Given the description of an element on the screen output the (x, y) to click on. 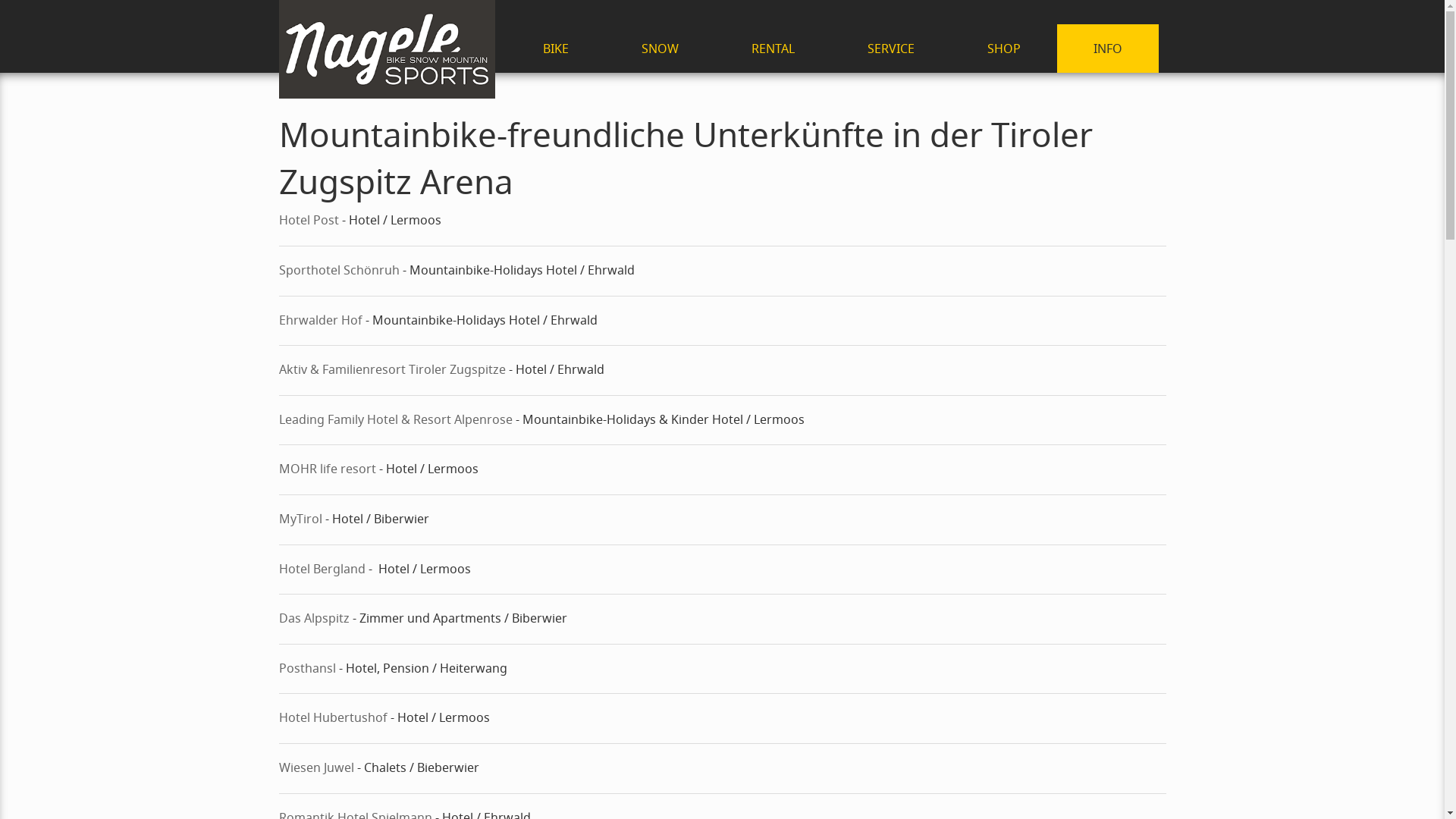
MyTirol Element type: text (300, 518)
Body Geometry Fit Element type: text (555, 222)
Sport Nagele Element type: hover (387, 49)
Rental Bike Element type: text (772, 113)
Service - Ski & Snowboard Element type: text (660, 195)
Rental - Bike Element type: text (555, 140)
Bike SALE % Element type: text (555, 249)
Service - Bike Element type: text (555, 168)
Bike-Guiding Element type: text (555, 195)
Partner Element type: text (1107, 168)
Ehrwalder Hof Element type: text (320, 319)
SNOW Element type: text (660, 48)
Hotel Post Element type: text (308, 219)
Lage Element type: text (1107, 140)
SERVICE Element type: text (890, 48)
Shop - Snow Sports Element type: text (660, 168)
Leading Family Hotel & Resort Alpenrose Element type: text (395, 419)
BIKE Element type: text (555, 48)
Hotel Hubertushof Element type: text (333, 717)
SHOP Element type: text (1003, 48)
INFO Element type: text (1107, 48)
Rental Ski & Snowboard Element type: text (772, 140)
Bekleidung Element type: text (555, 304)
Aktiv & Familienresort Tiroler Zugspitze Element type: text (392, 368)
Das Alpspitz Element type: text (315, 617)
Shop - Bike Element type: text (555, 113)
Wiesen Juwel Element type: text (316, 767)
Posthansl Element type: text (307, 667)
Gebraucht & Test Bikes Element type: text (555, 277)
Rental - Ski & Snowboard Element type: text (660, 113)
Skischule Bichlbach Element type: text (660, 140)
RENTAL Element type: text (772, 48)
Hotel Bergland Element type: text (322, 568)
MOHR life resort Element type: text (327, 468)
